Given the description of an element on the screen output the (x, y) to click on. 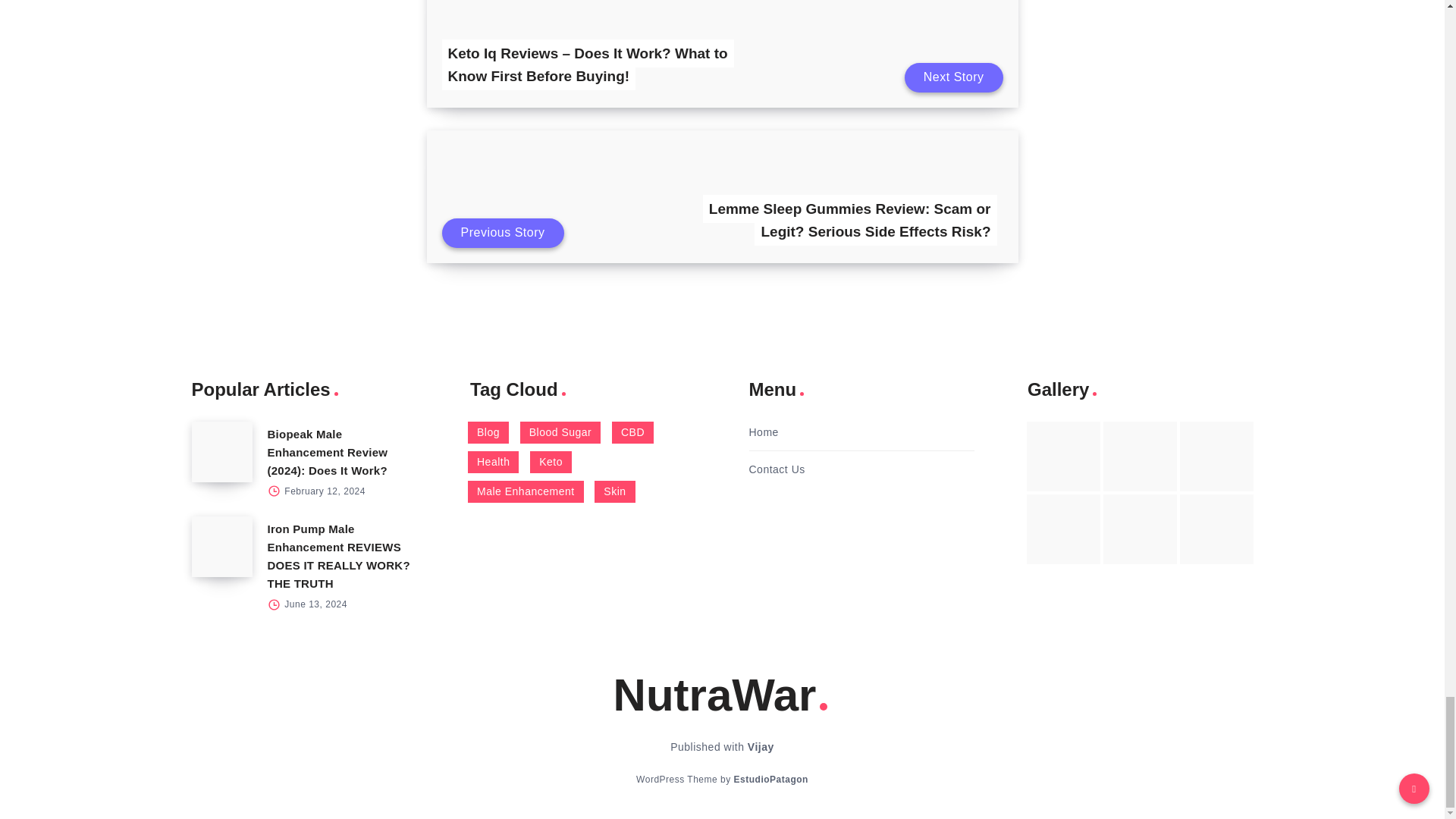
Old music caption (1216, 456)
Just a nice paint (1139, 529)
Retro Camera (1139, 456)
Pink paper over blue background (1063, 456)
Powered with Veen (770, 778)
